Given the description of an element on the screen output the (x, y) to click on. 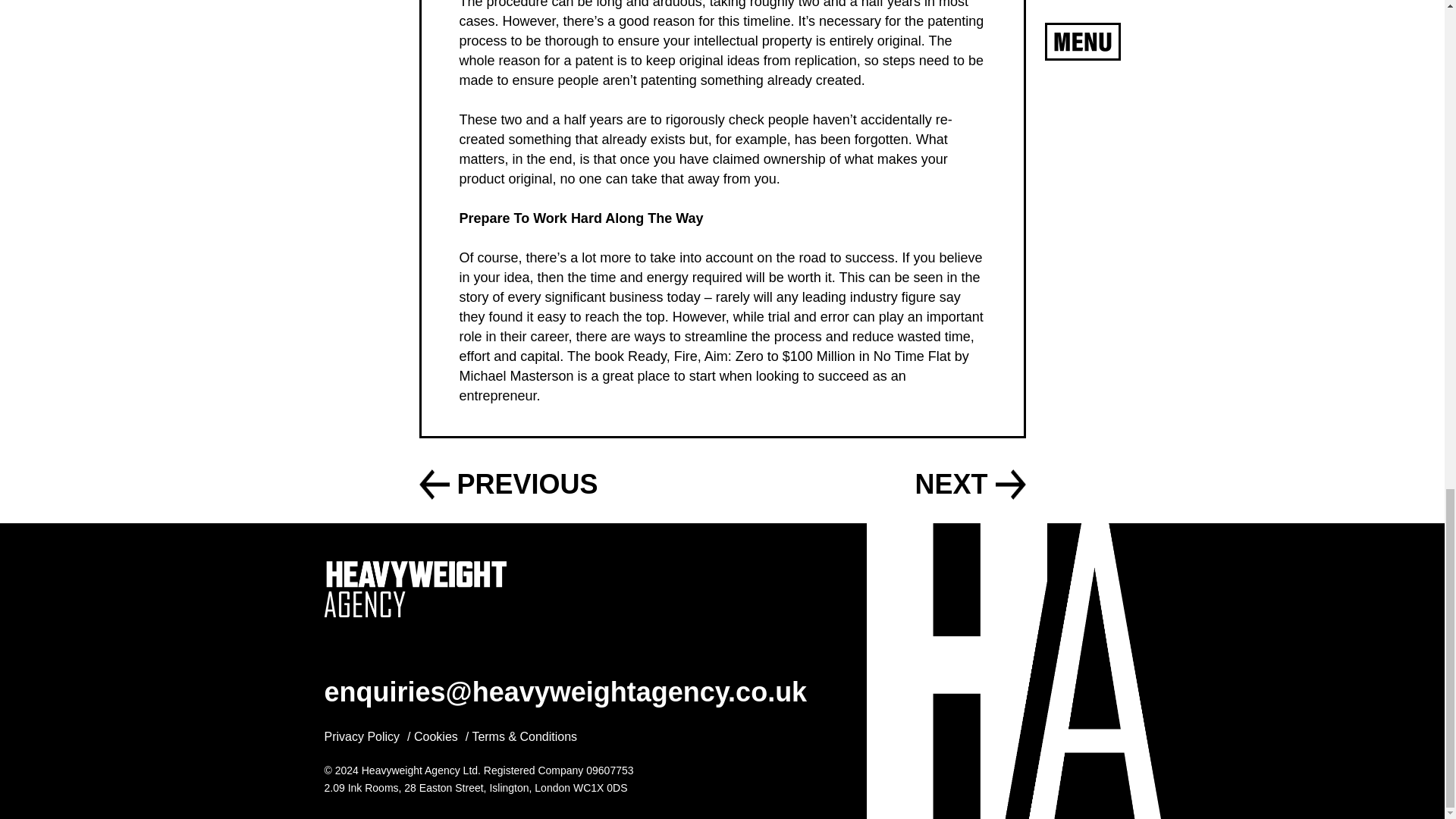
NEXT (950, 484)
Privacy Policy (362, 736)
Cookies (435, 736)
PREVIOUS (526, 484)
